Given the description of an element on the screen output the (x, y) to click on. 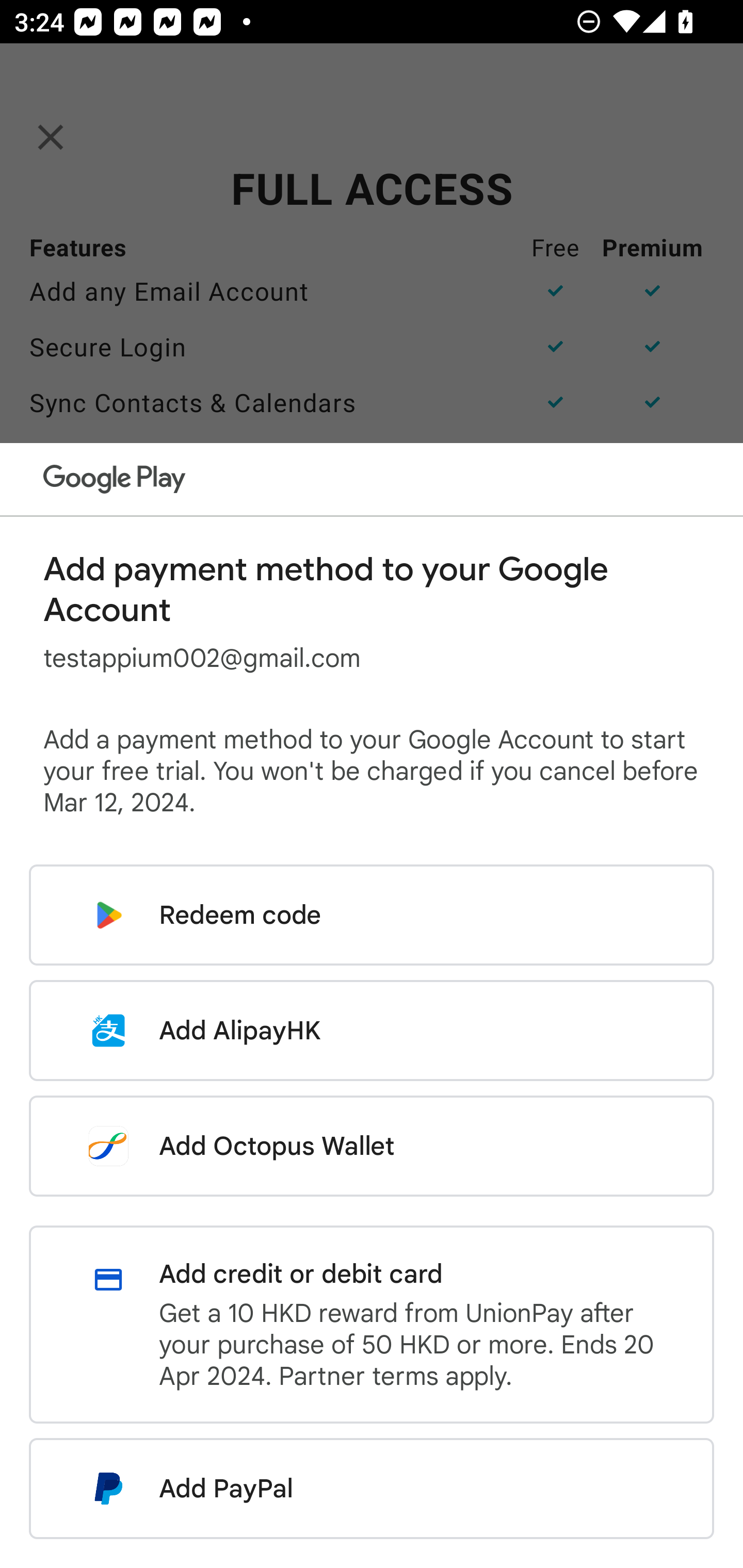
Redeem code (371, 914)
Add AlipayHK (371, 1030)
Add Octopus Wallet (371, 1146)
Add PayPal (371, 1488)
